Given the description of an element on the screen output the (x, y) to click on. 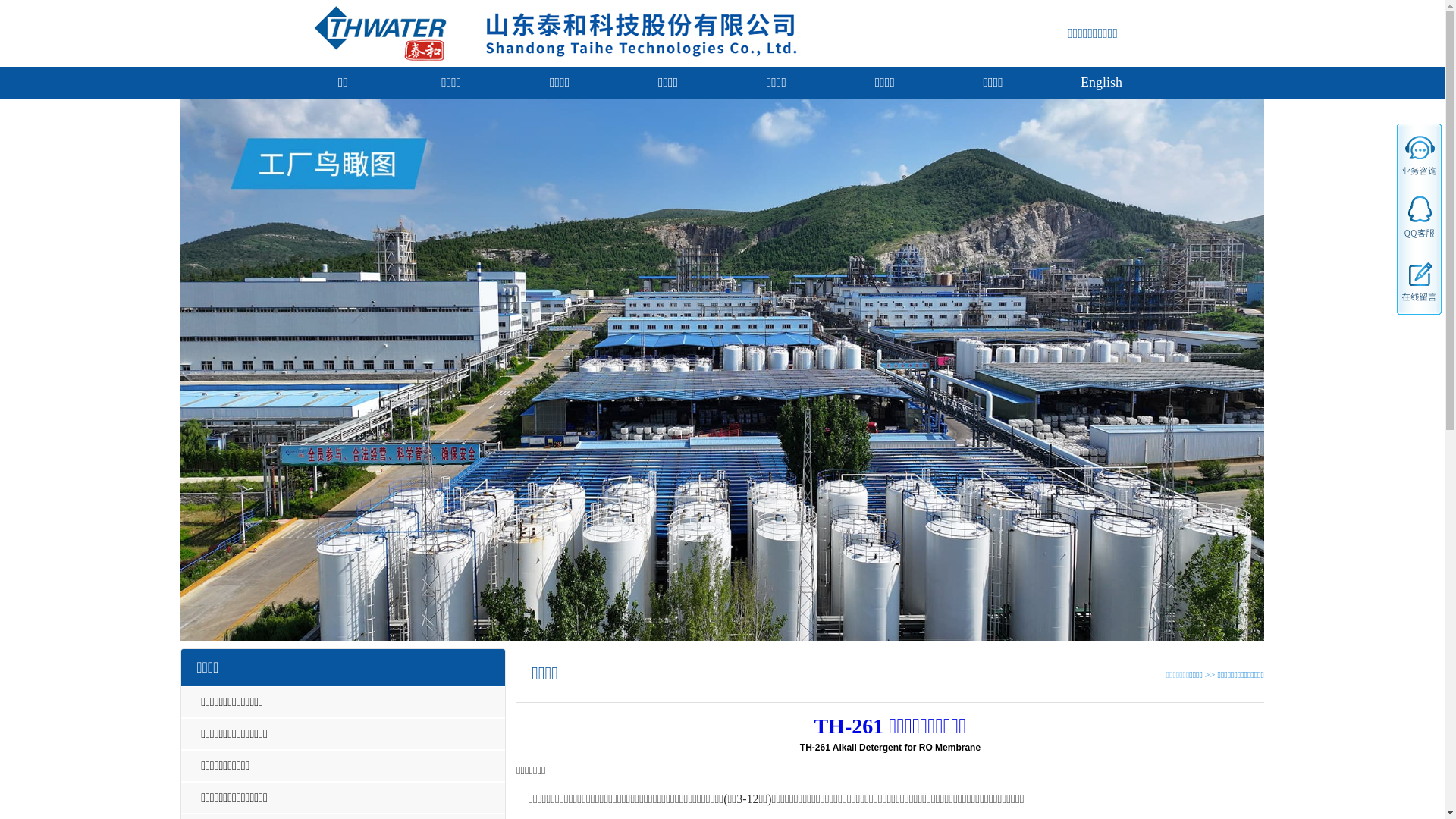
English Element type: text (1101, 82)
TH-261 Alkali Detergent for RO Membrane Element type: text (890, 747)
